Given the description of an element on the screen output the (x, y) to click on. 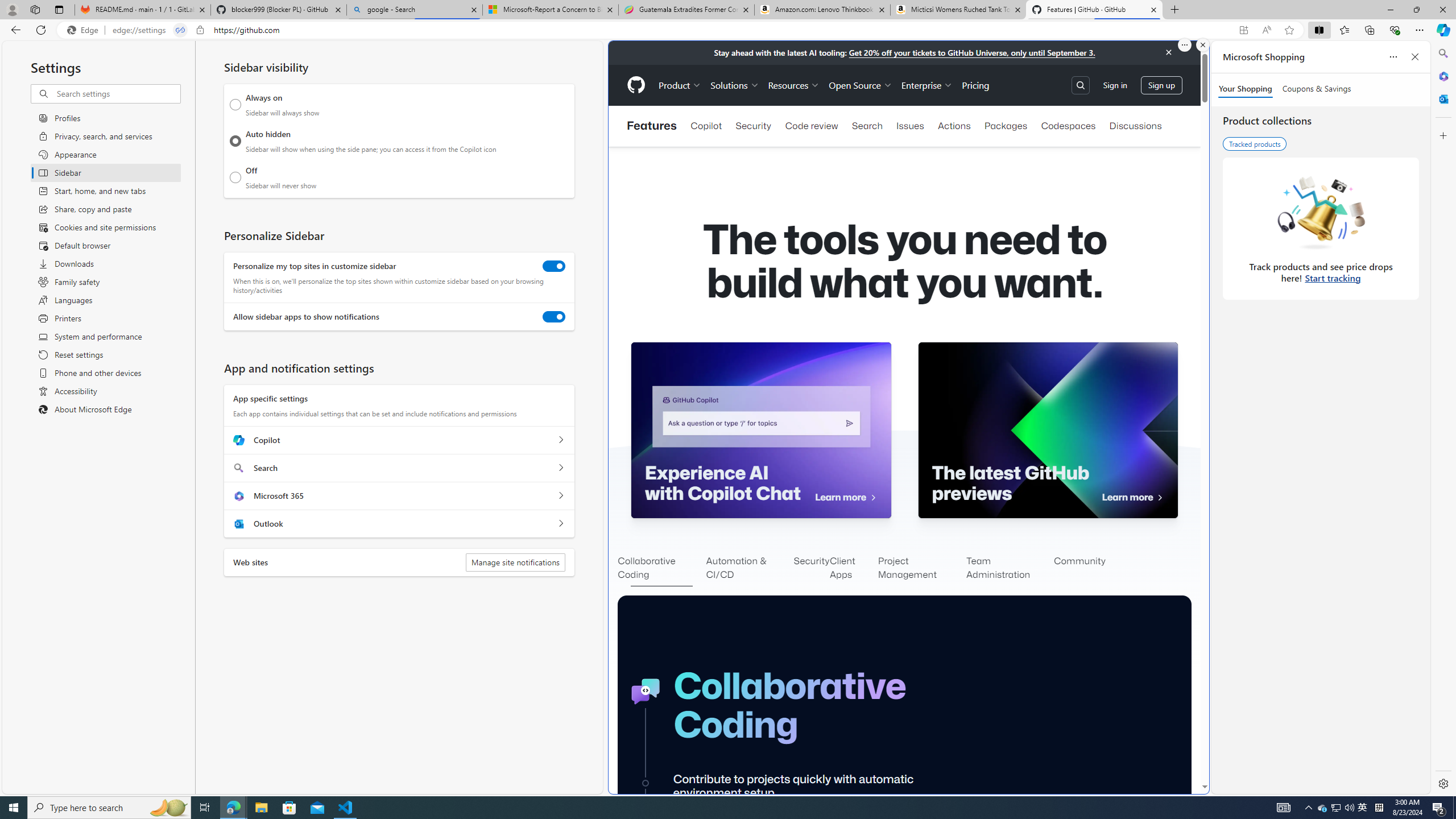
Side bar (1443, 418)
Outlook (1442, 98)
Manage site notifications (514, 562)
Edge (84, 29)
Team Administration (1009, 568)
Experience AI with Copilot Chat Learn more  (761, 429)
Project Management (921, 568)
Codespaces (1068, 125)
